Given the description of an element on the screen output the (x, y) to click on. 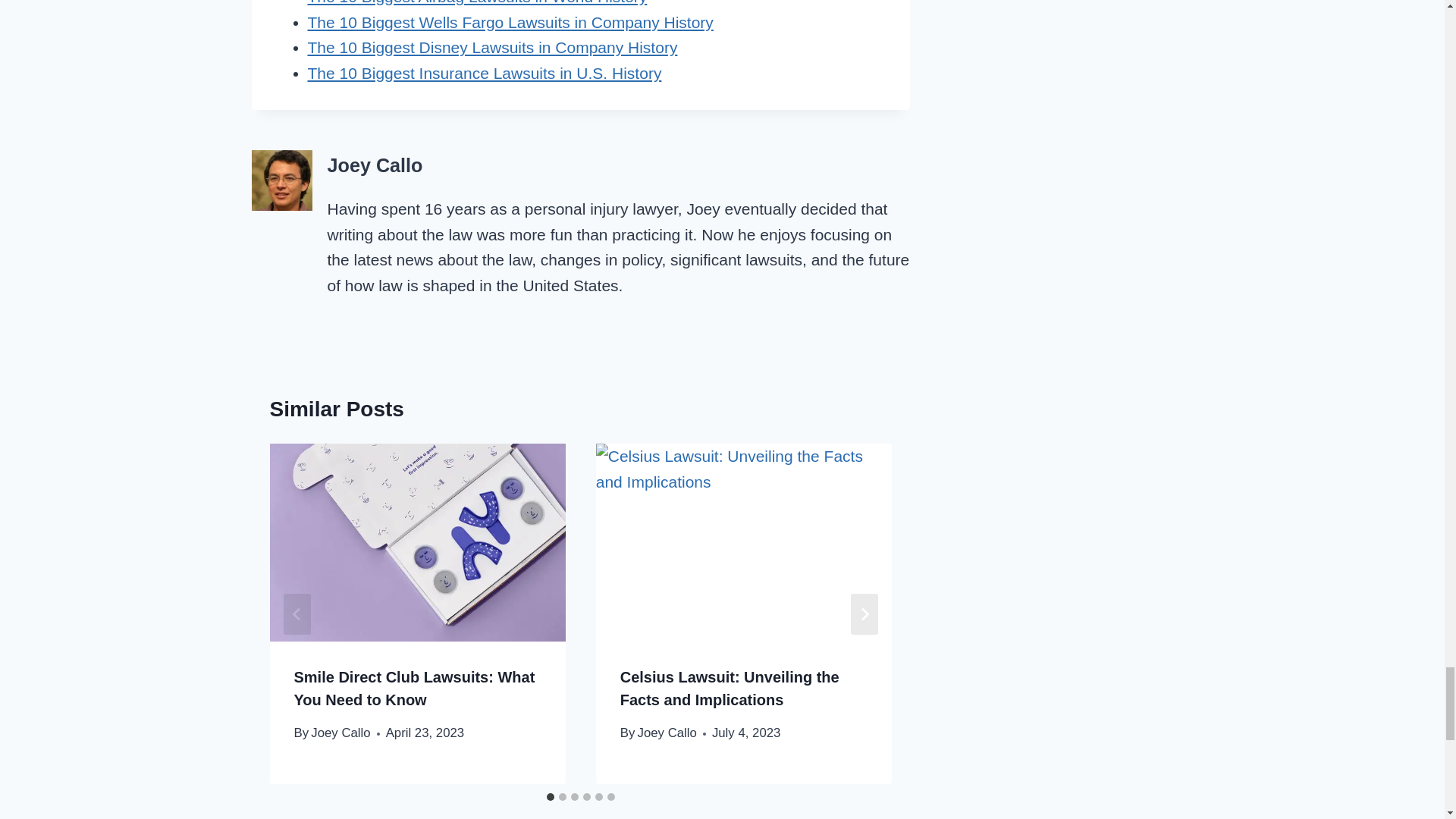
The 10 Biggest Airbag Lawsuits in World History (477, 2)
Smile Direct Club Lawsuits: What You Need to Know (414, 688)
The 10 Biggest Insurance Lawsuits in U.S. History (484, 72)
Joey Callo (340, 732)
The 10 Biggest Wells Fargo Lawsuits in Company History (510, 22)
Joey Callo (667, 732)
The 10 Biggest Disney Lawsuits in Company History (492, 47)
Posts by Joey Callo (375, 165)
Joey Callo (375, 165)
Celsius Lawsuit: Unveiling the Facts and Implications (730, 688)
